Given the description of an element on the screen output the (x, y) to click on. 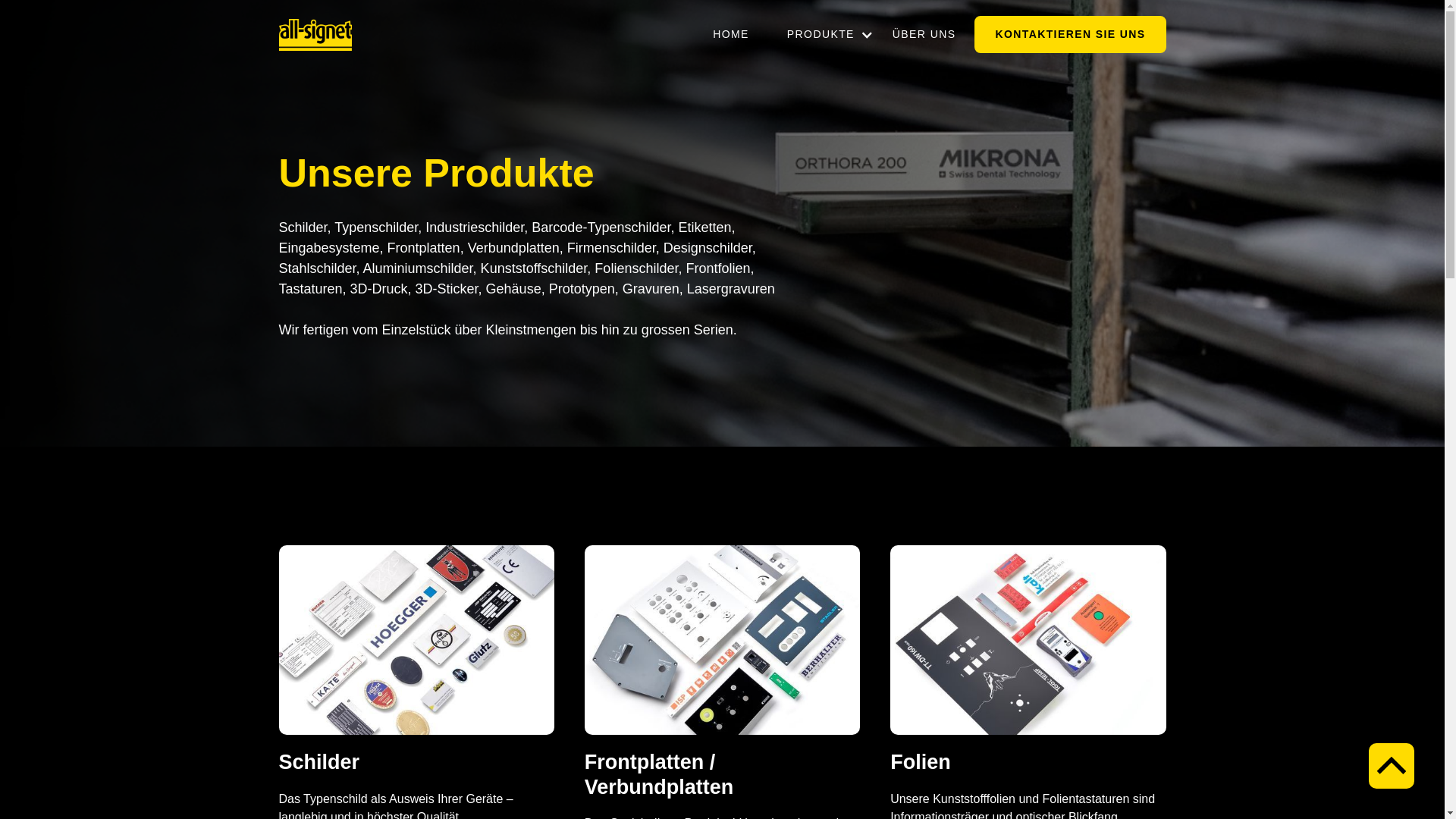
HOME Element type: text (730, 34)
PRODUKTE Element type: text (820, 34)
Frontplatten / Verbundplatten Element type: text (721, 777)
Folien Element type: text (920, 765)
Schilder Element type: text (319, 765)
KONTAKTIEREN SIE UNS Element type: text (1069, 34)
